Given the description of an element on the screen output the (x, y) to click on. 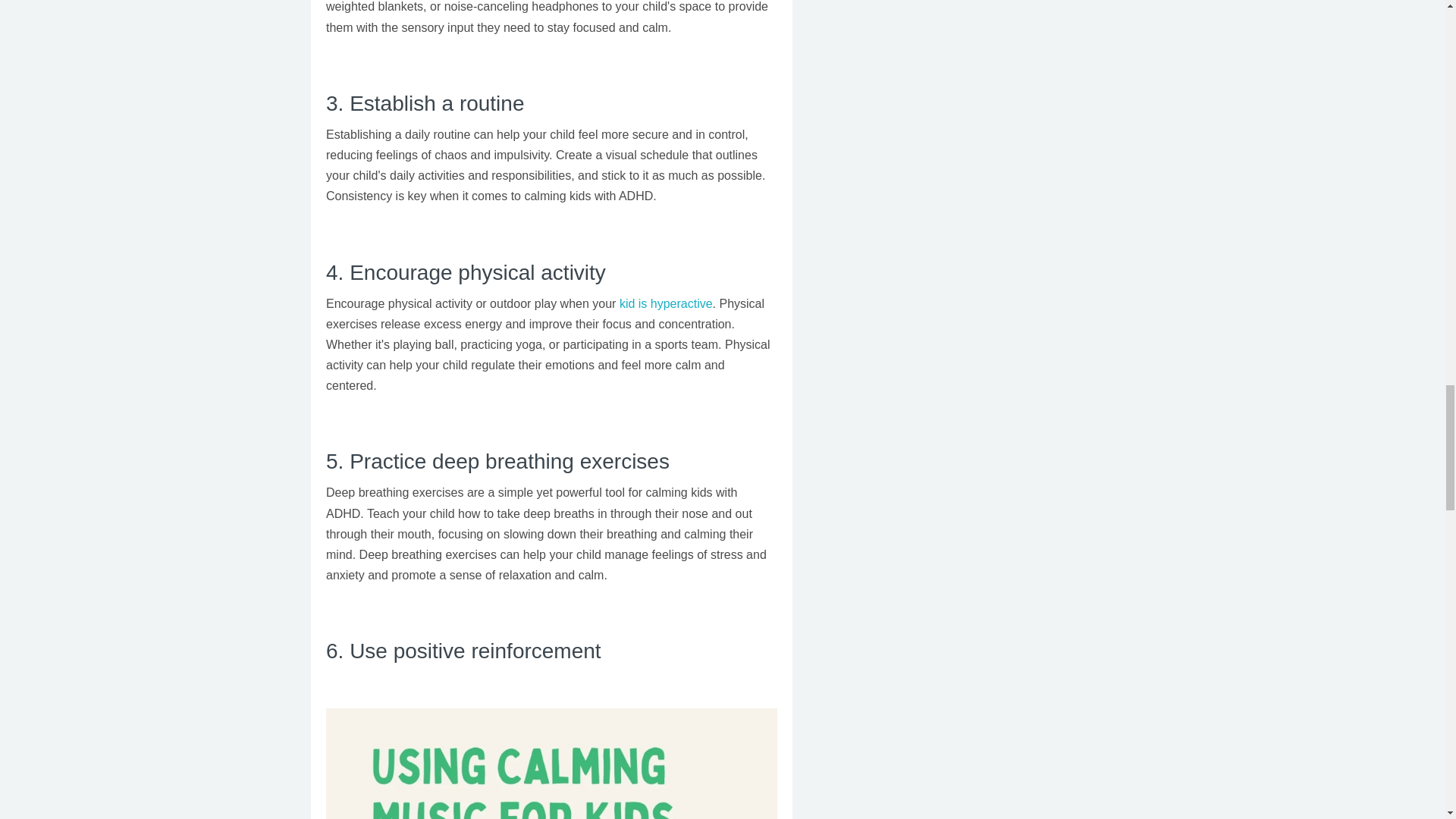
kid is hyperactive (666, 303)
